Given the description of an element on the screen output the (x, y) to click on. 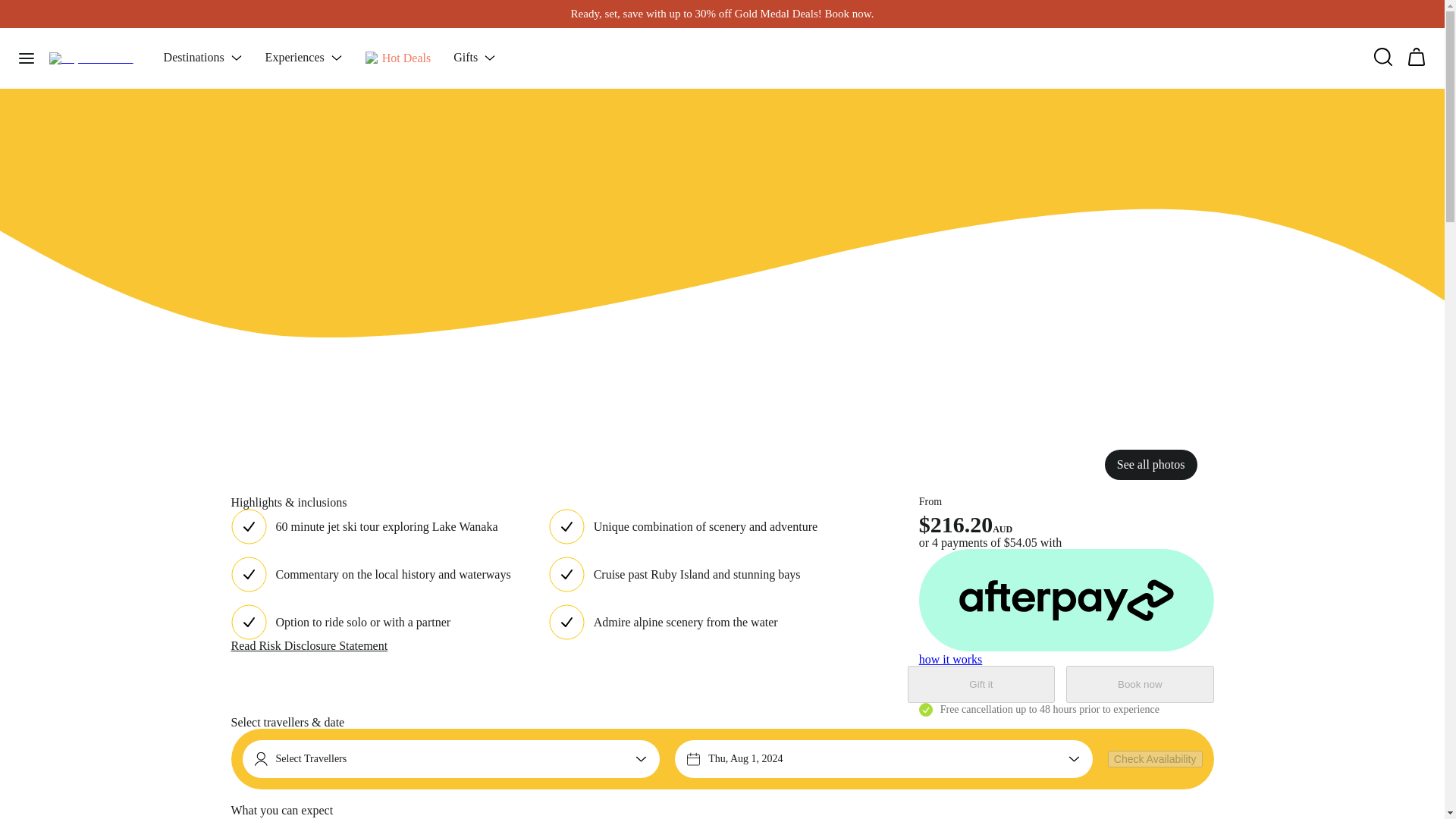
Home (240, 14)
Book now (1138, 683)
how it works (950, 658)
Gift it (980, 683)
Check Availability (1155, 759)
Wanaka (276, 14)
